Given the description of an element on the screen output the (x, y) to click on. 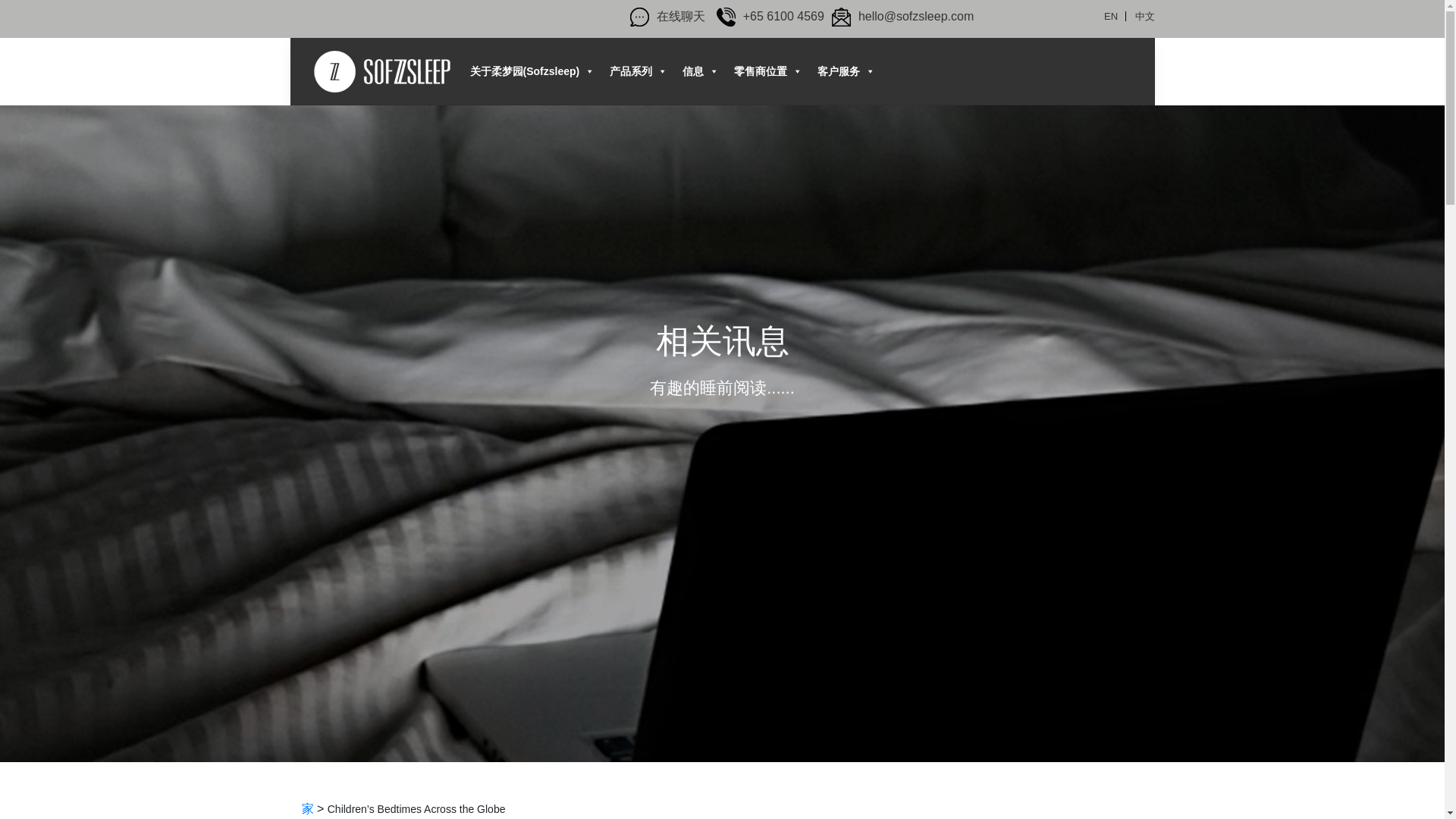
Enquiry (840, 16)
Call (766, 15)
Enquiry (899, 15)
Call (725, 16)
EN (1110, 16)
